Given the description of an element on the screen output the (x, y) to click on. 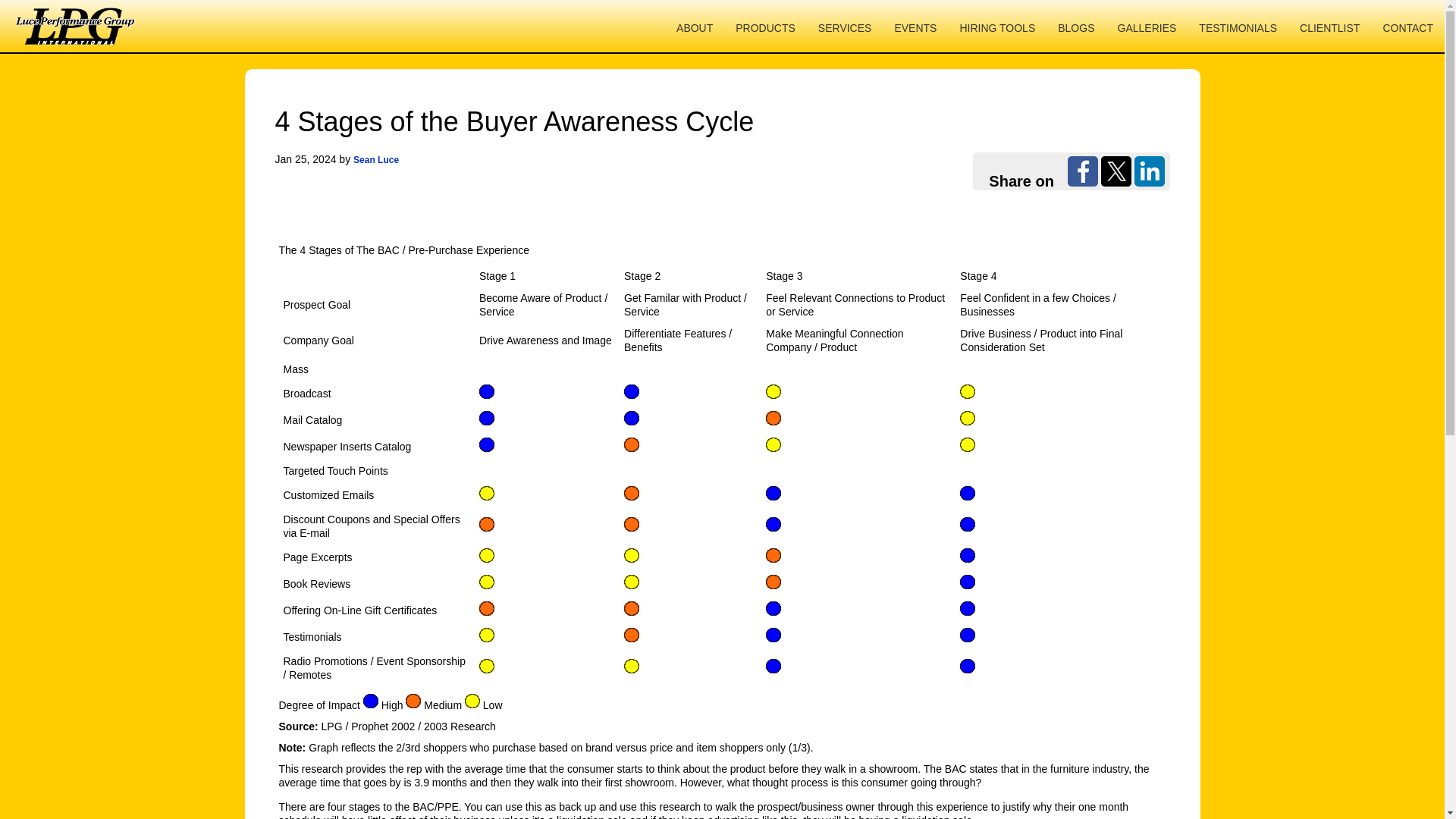
Sean Luce (375, 159)
BLOGS (1075, 26)
EVENTS (914, 26)
CLIENTLIST (1329, 26)
SERVICES (844, 26)
GALLERIES (1146, 26)
TESTIMONIALS (1238, 26)
ABOUT (694, 26)
HIRING TOOLS (996, 26)
PRODUCTS (764, 26)
